Given the description of an element on the screen output the (x, y) to click on. 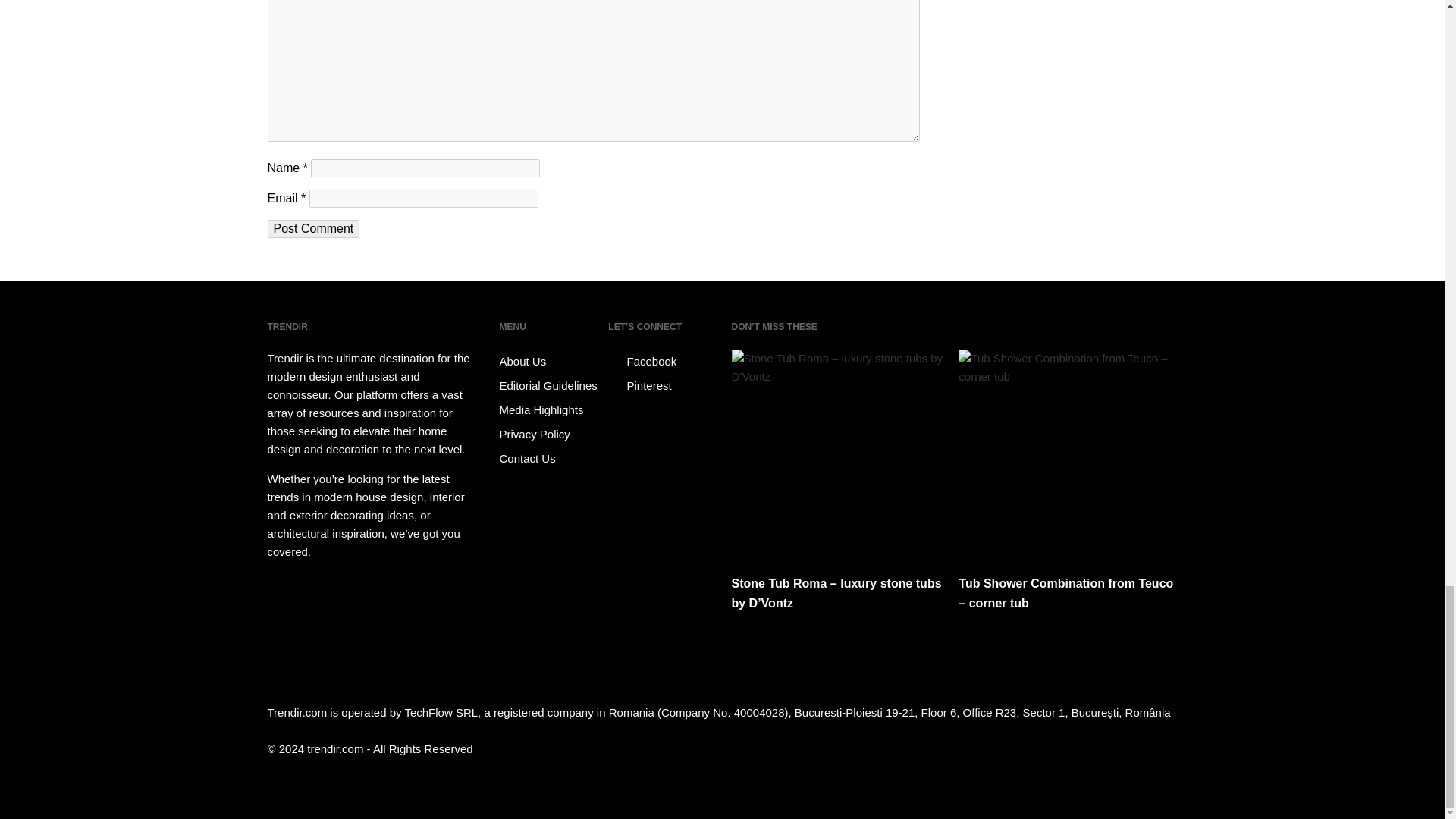
Media Highlights - Trendir (551, 410)
About Us - Trendir (551, 361)
Post Comment (312, 229)
Trendir Editorial Guidelines (551, 385)
